Given the description of an element on the screen output the (x, y) to click on. 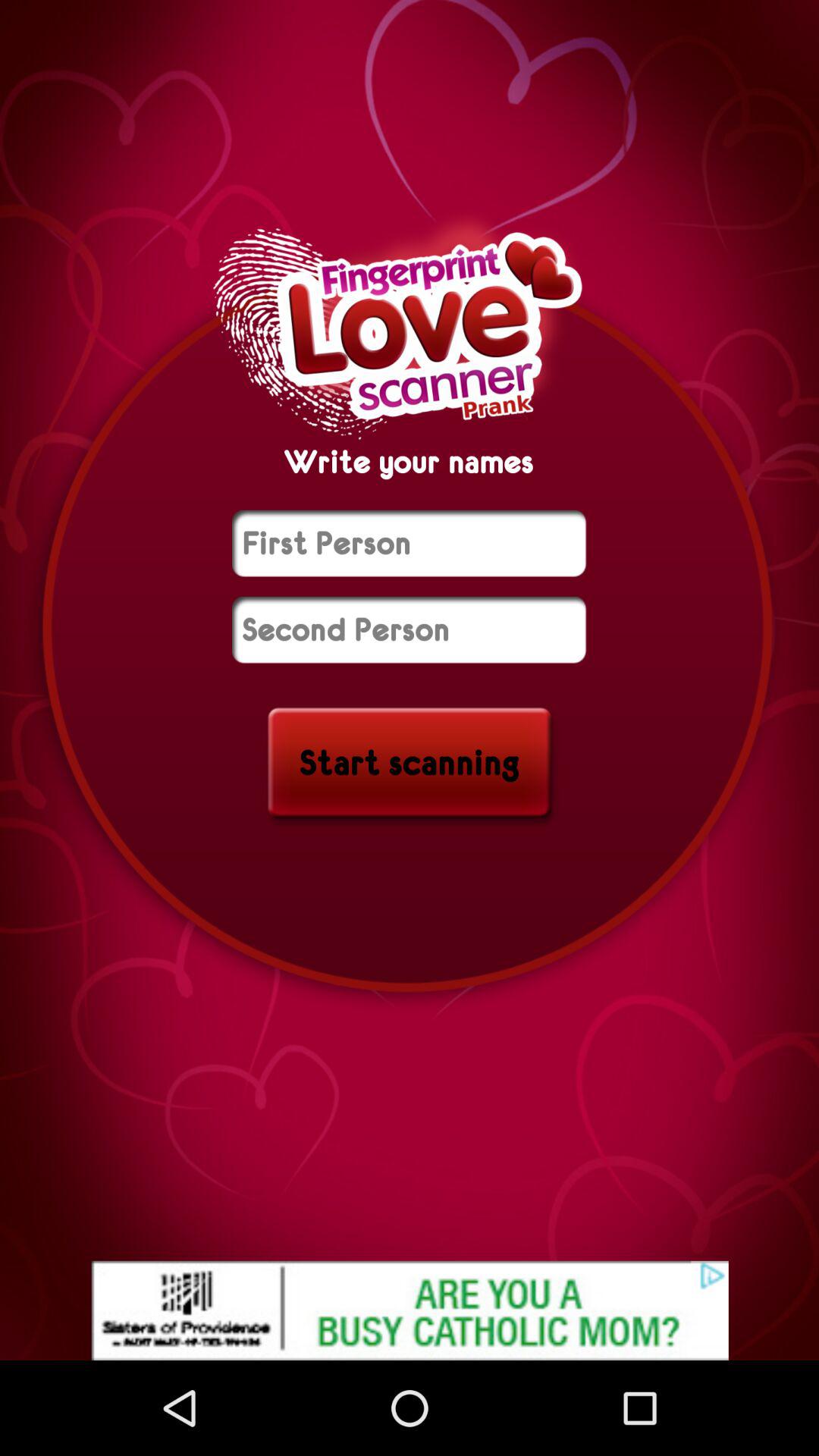
enter name (409, 543)
